Given the description of an element on the screen output the (x, y) to click on. 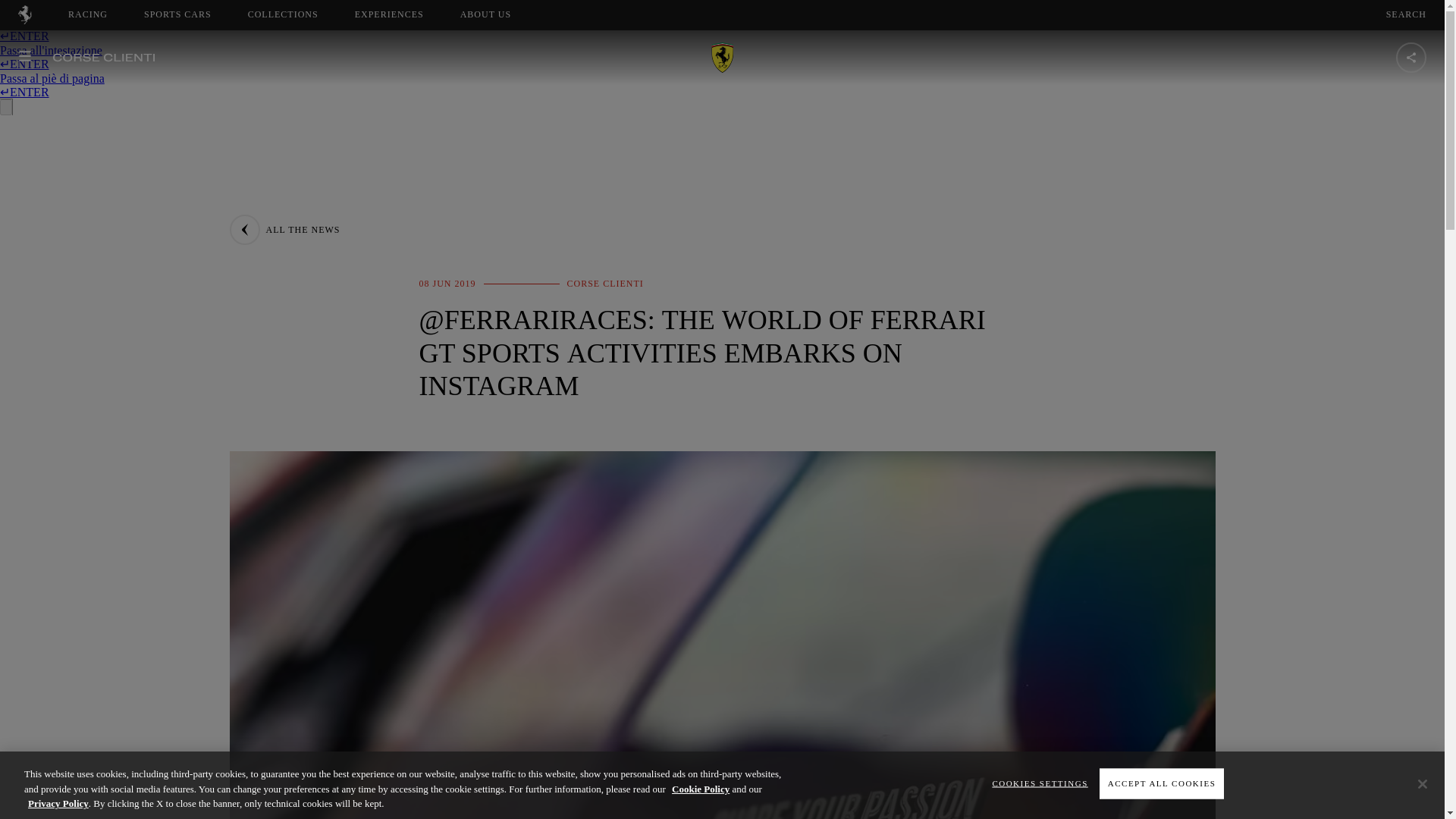
SEARCH (1406, 14)
COLLECTIONS (282, 14)
RACING (87, 14)
ABOUT US (499, 14)
ALL THE NEWS (485, 14)
EXPERIENCES (283, 229)
Ferrari logo (389, 14)
SPORTS CARS (24, 19)
